Given the description of an element on the screen output the (x, y) to click on. 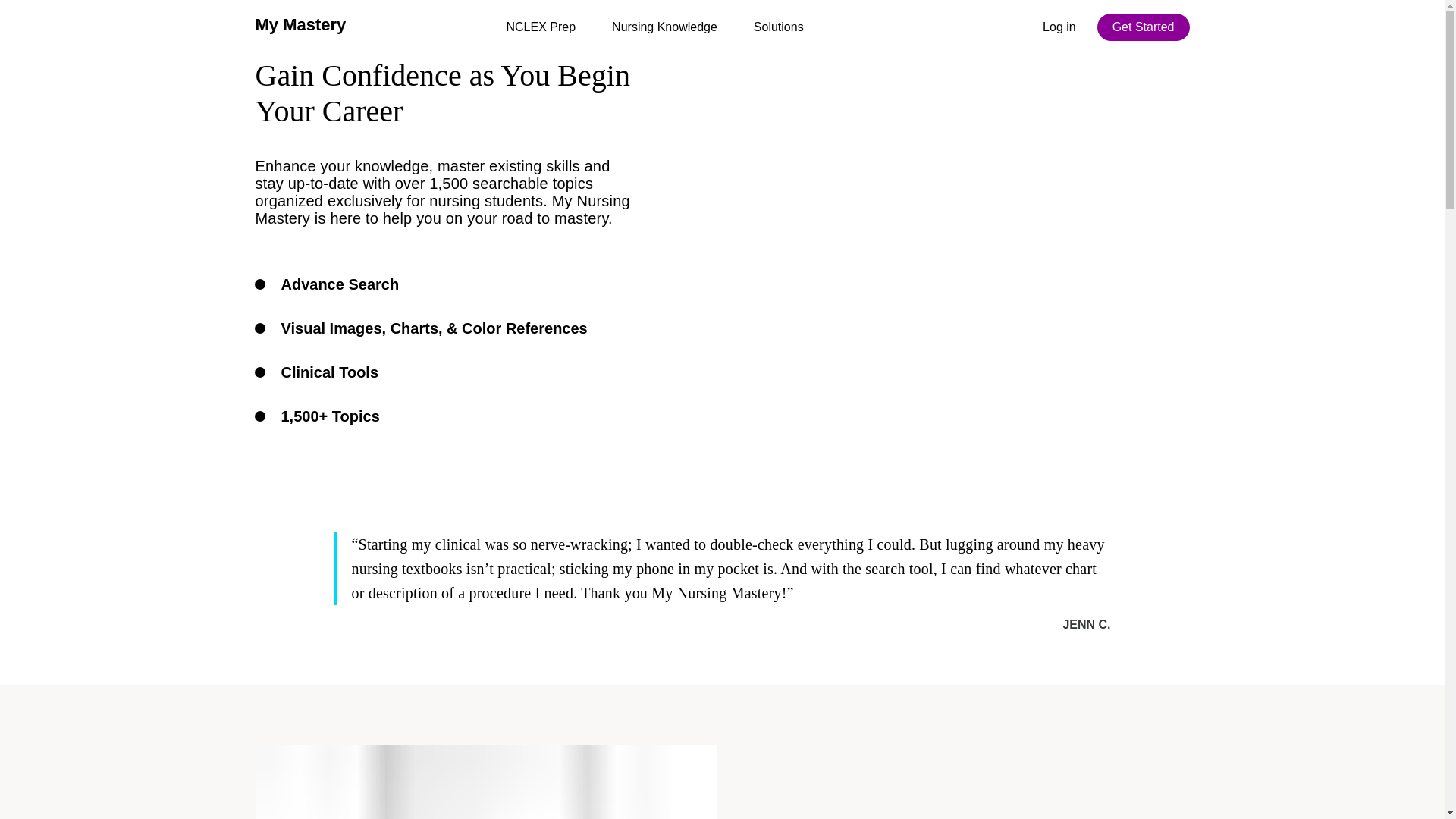
Nursing Knowledge (664, 26)
NCLEX Prep (541, 26)
Log in (1058, 26)
Solutions (778, 26)
Get Started (1143, 26)
My Mastery (300, 24)
Advance Search (339, 284)
